Given the description of an element on the screen output the (x, y) to click on. 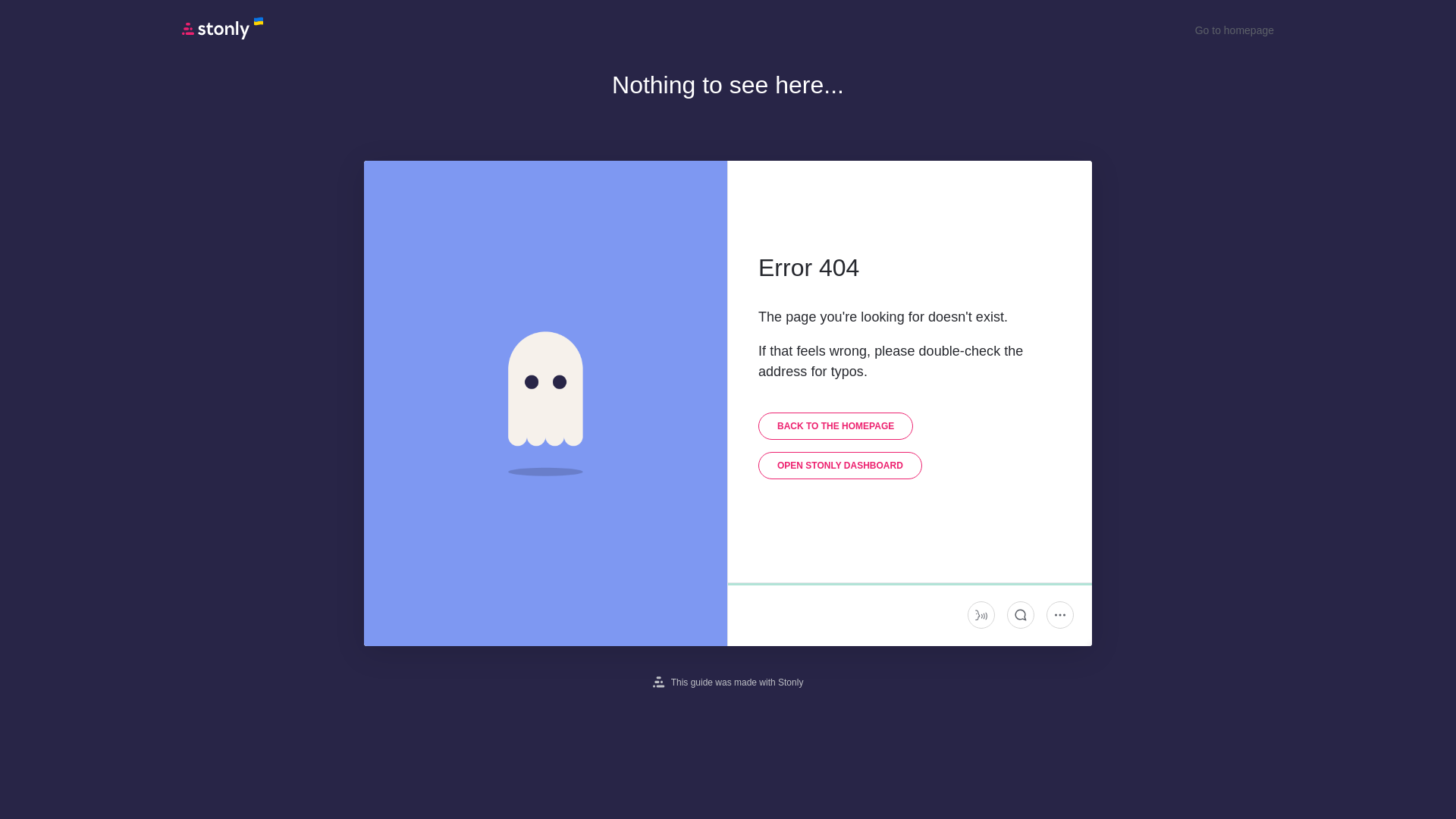
This guide was made with Stonly Element type: text (727, 681)
Go to homepage Element type: text (1234, 30)
